Given the description of an element on the screen output the (x, y) to click on. 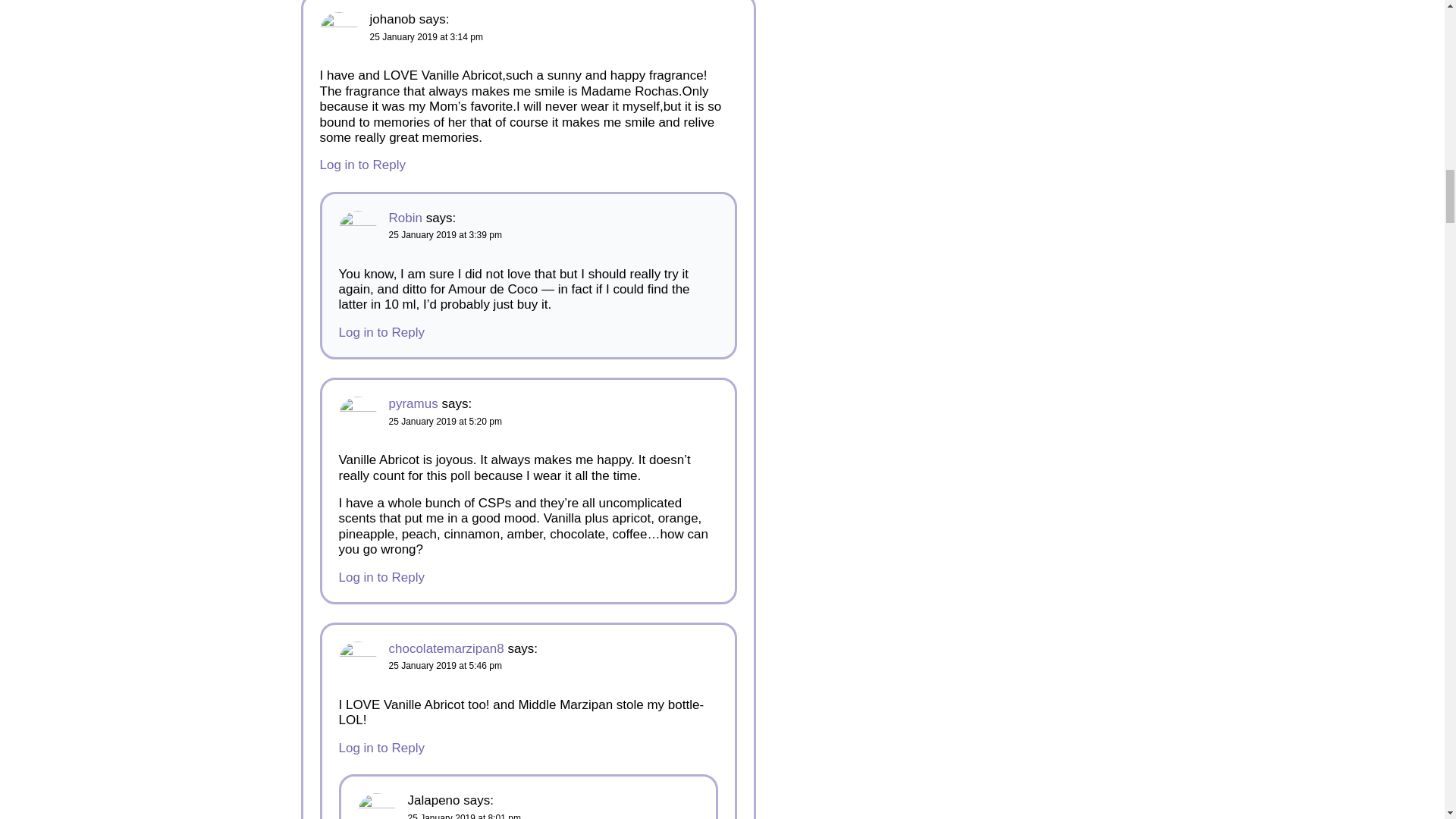
pyramus (413, 403)
chocolatemarzipan8 (445, 648)
Log in to Reply (380, 332)
Robin (405, 217)
Log in to Reply (363, 164)
Log in to Reply (380, 577)
